Given the description of an element on the screen output the (x, y) to click on. 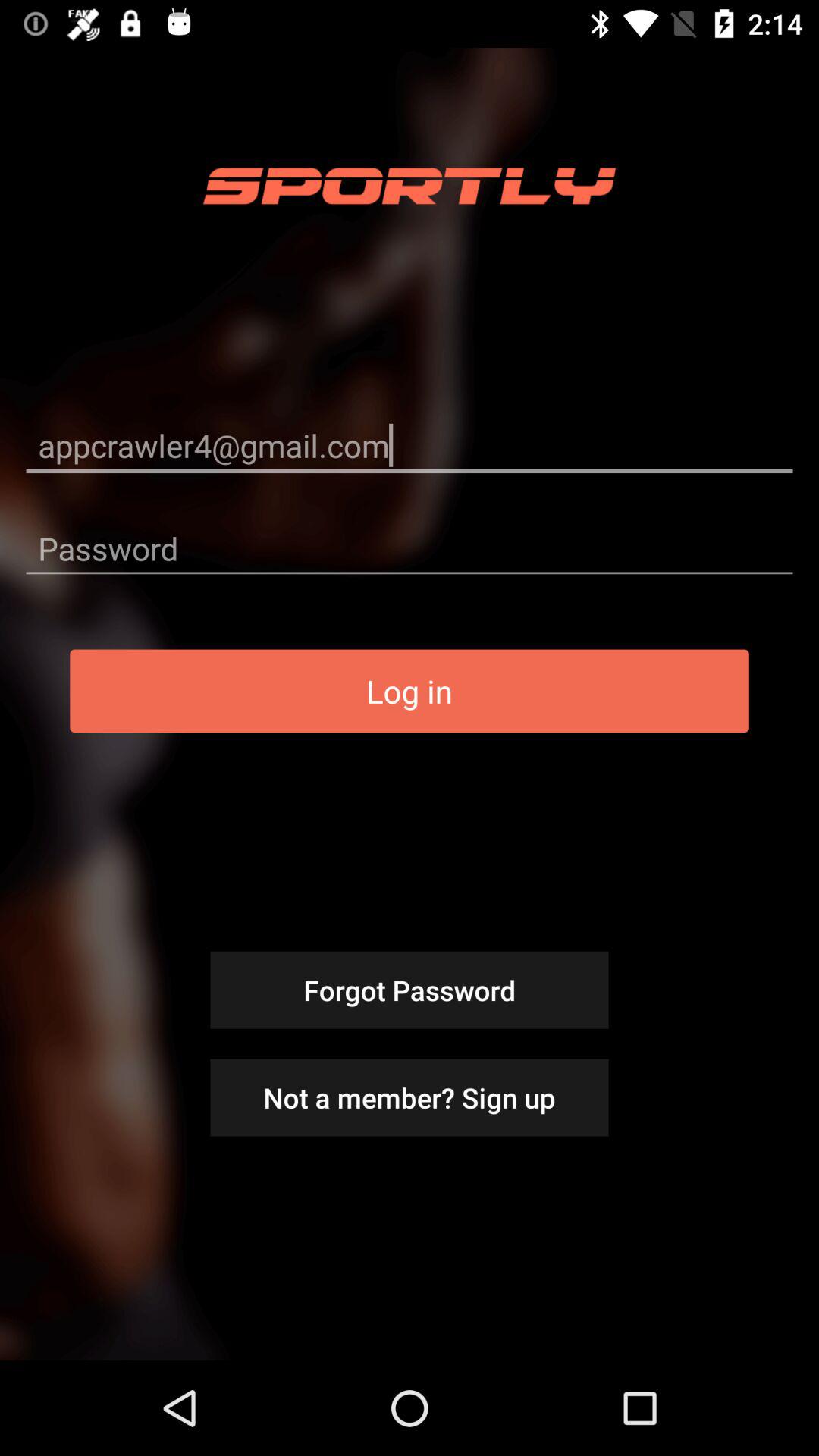
swipe to forgot password icon (409, 989)
